Given the description of an element on the screen output the (x, y) to click on. 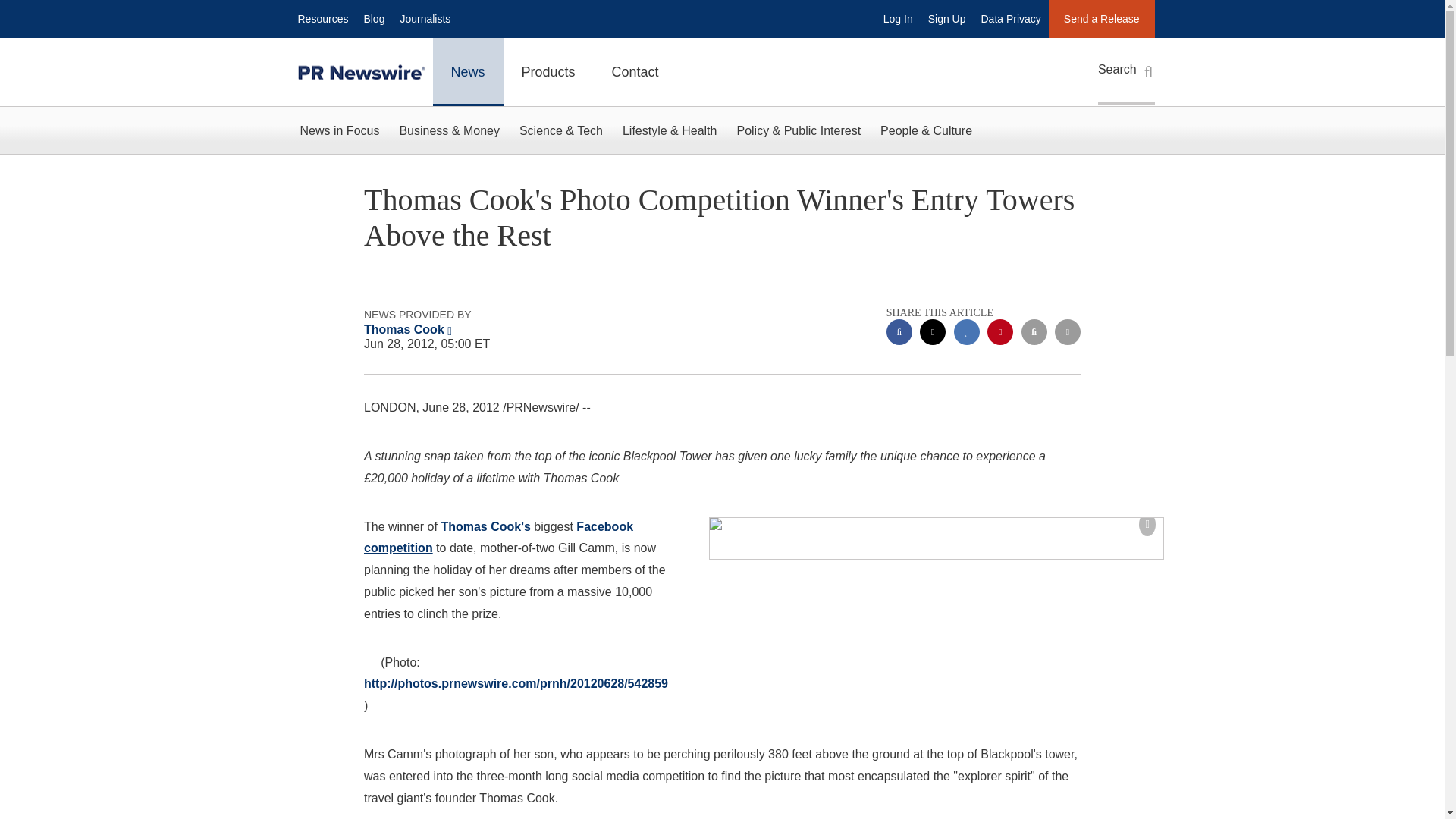
News in Focus (338, 130)
